Given the description of an element on the screen output the (x, y) to click on. 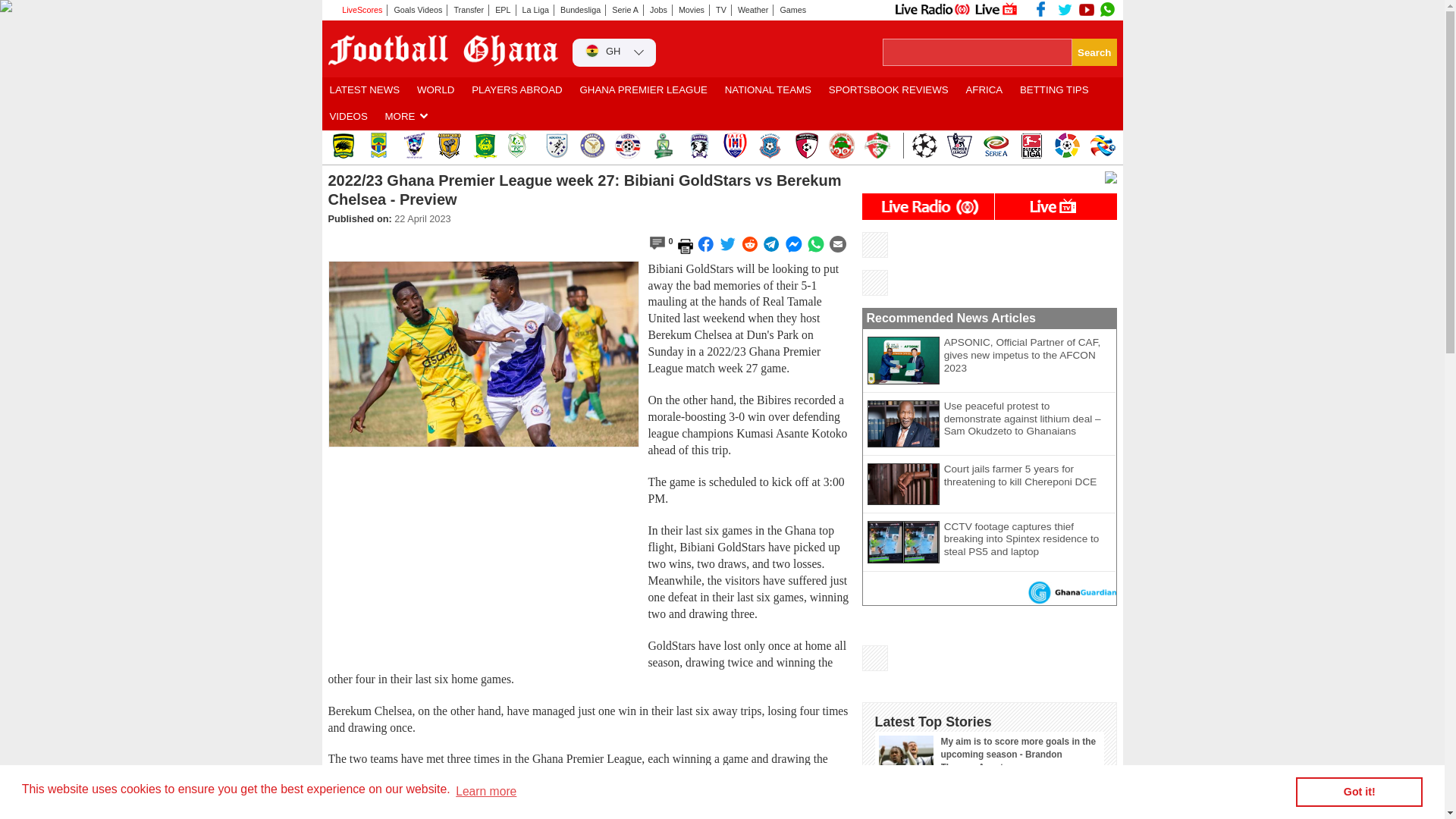
Search (1093, 52)
Techiman Wonders (840, 145)
UEFA (924, 145)
Dreams Fc (521, 145)
Accra Hearts of Oak (378, 145)
Liberty Professionals (627, 145)
Search (1093, 52)
Championship (959, 145)
Transfer (468, 9)
Footballghana Twitter (1065, 9)
Medeama Sporting Club (413, 145)
Bundesliga (580, 9)
Aduana Stars (556, 145)
Ebusua Dwarfs (484, 145)
WORLD (435, 90)
